Given the description of an element on the screen output the (x, y) to click on. 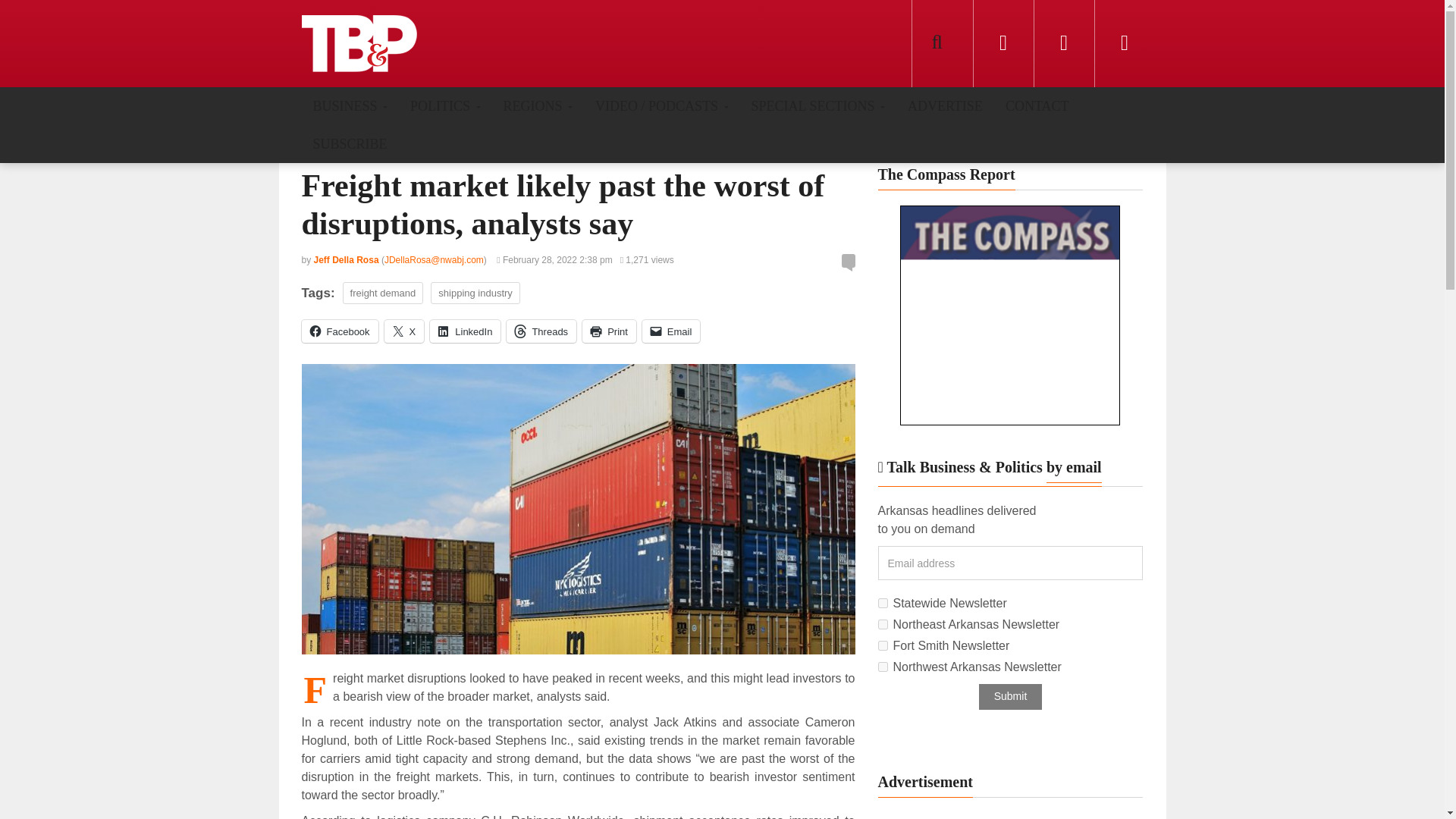
Click to email a link to a friend (671, 331)
a8cb0d3206 (882, 603)
0dbc242577 (882, 624)
536baa6e11 (882, 666)
BUSINESS (349, 105)
Click to share on X (404, 331)
Click to share on Threads (541, 331)
bfd07a2f6a (882, 645)
Click to print (609, 331)
Click to share on Facebook (339, 331)
